Given the description of an element on the screen output the (x, y) to click on. 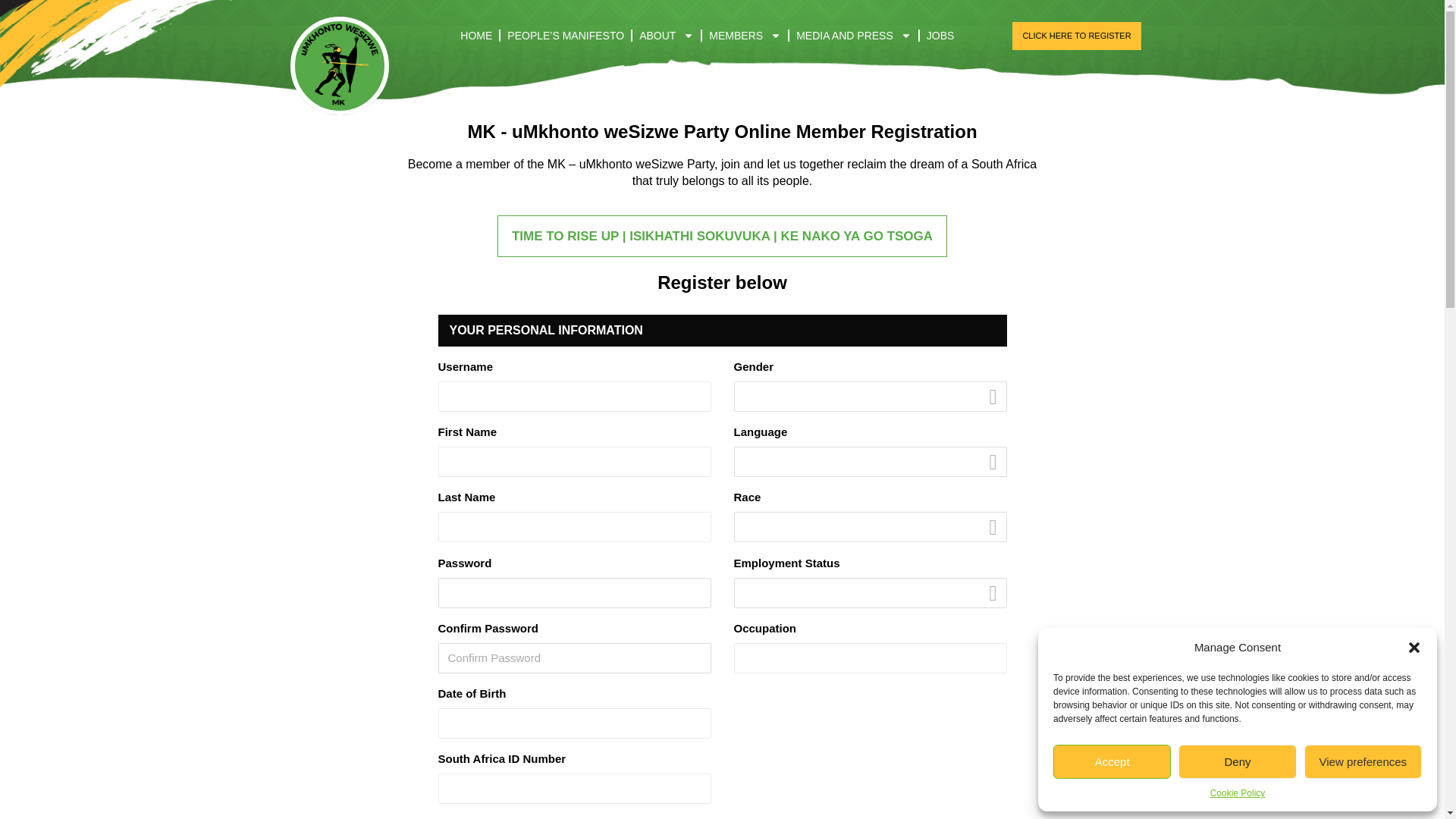
MEMBERS (744, 35)
Cookie Policy (1237, 793)
JOBS (940, 35)
View preferences (1363, 761)
MEDIA AND PRESS (853, 35)
ABOUT (665, 35)
Deny (1236, 761)
Accept (1111, 761)
HOME (475, 35)
